Given the description of an element on the screen output the (x, y) to click on. 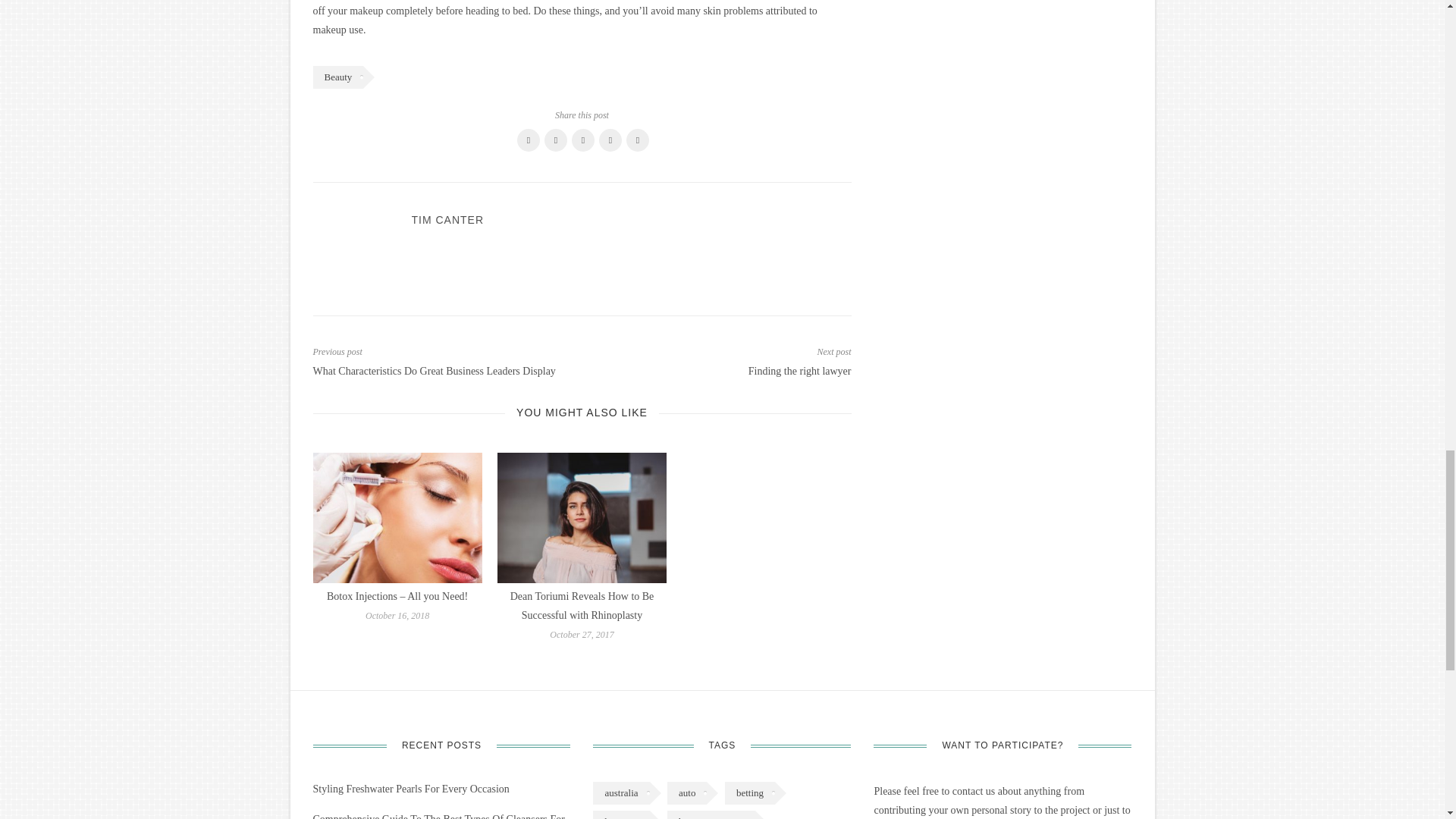
Posts by Tim Canter (446, 219)
